Given the description of an element on the screen output the (x, y) to click on. 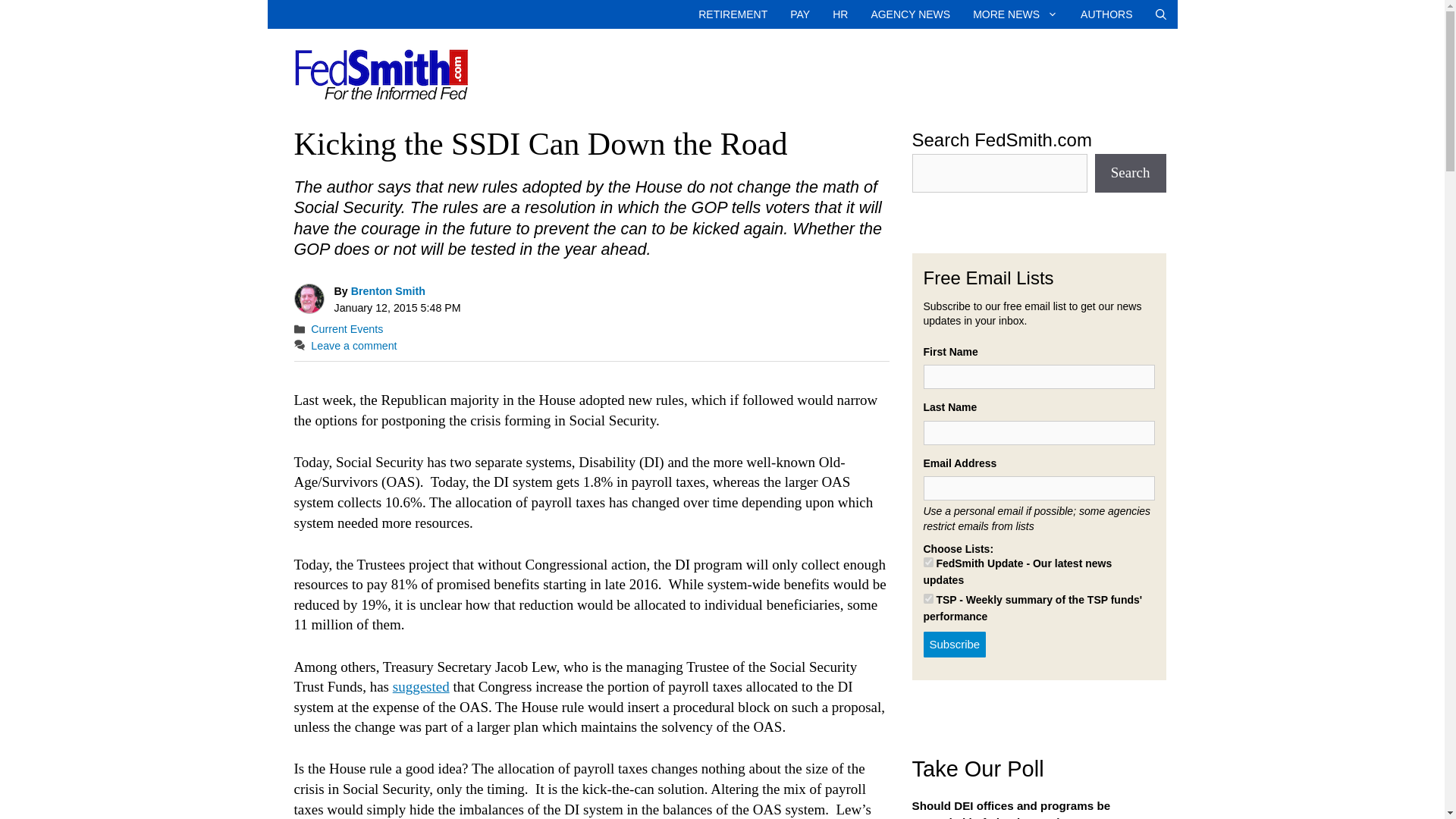
AGENCY NEWS (909, 14)
RETIREMENT (732, 14)
1 (928, 562)
suggested (421, 686)
Federal Human Resources News (840, 14)
PAY (799, 14)
HR (840, 14)
Leave a comment (353, 345)
Subscribe (955, 644)
2 (928, 598)
MORE NEWS (1014, 14)
Subscribe (955, 644)
Search (1130, 172)
Current Events (346, 328)
Federal Employee Pay and Benefits News (799, 14)
